Given the description of an element on the screen output the (x, y) to click on. 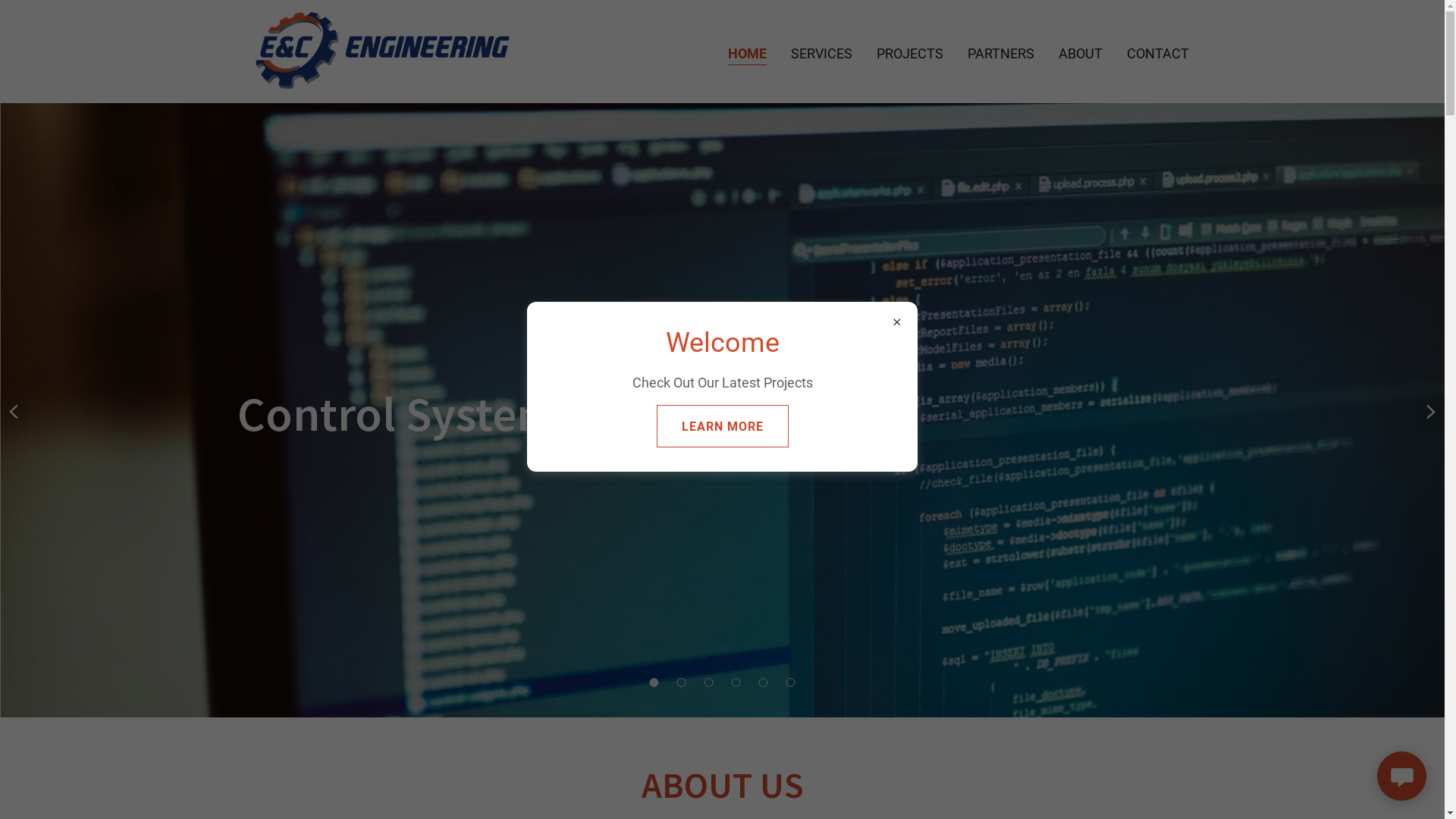
LEARN MORE Element type: text (722, 425)
PROJECTS Element type: text (909, 52)
HOME Element type: text (747, 53)
E & C Engineering Element type: hover (381, 50)
ABOUT Element type: text (1080, 52)
SERVICES Element type: text (821, 52)
CONTACT Element type: text (1157, 52)
PARTNERS Element type: text (1000, 52)
